Given the description of an element on the screen output the (x, y) to click on. 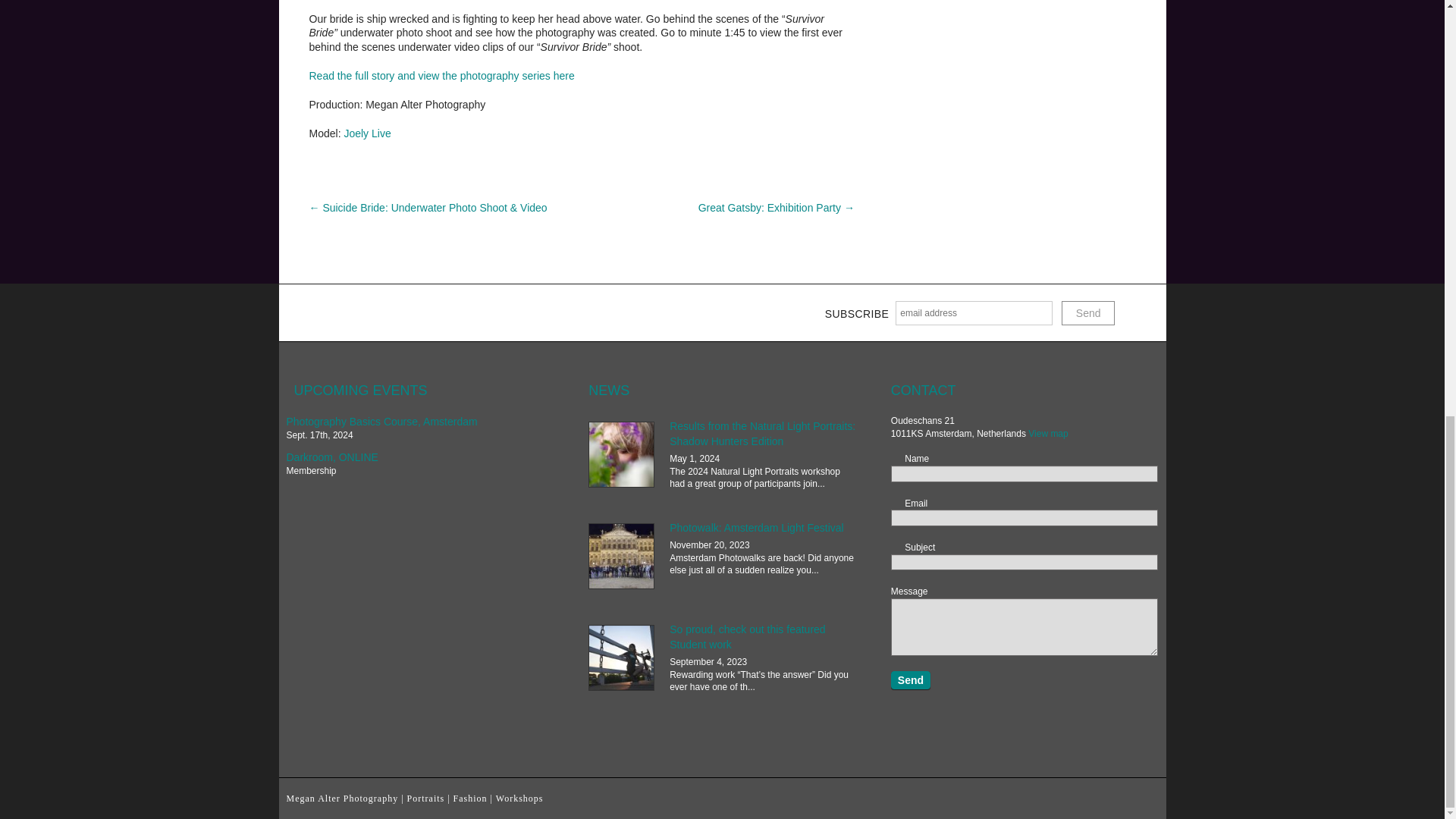
View map (1047, 433)
So proud, check out this featured Student work (621, 657)
Photowalk: Amsterdam Light Festival (621, 556)
Send (910, 679)
So proud, check out this featured Student work (747, 636)
Photography Basics Course, Amsterdam (381, 421)
Darkroom, ONLINE (332, 457)
Photowalk: Amsterdam Light Festival (756, 527)
